Given the description of an element on the screen output the (x, y) to click on. 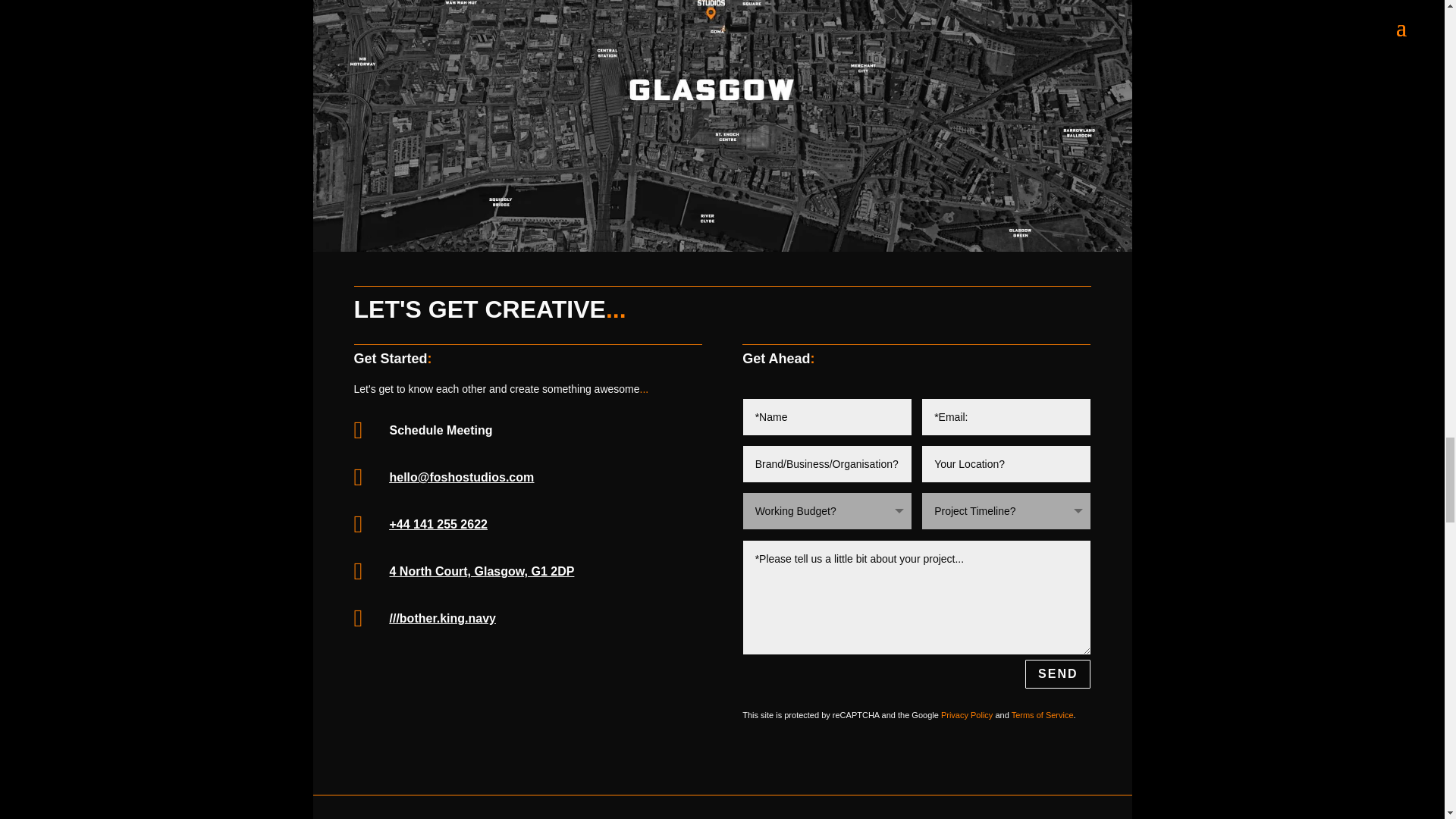
Terms of Service (1042, 714)
Privacy Policy (966, 714)
Schedule Meeting (441, 430)
4 North Court, Glasgow, G1 2DP (482, 571)
SEND (1057, 674)
